Given the description of an element on the screen output the (x, y) to click on. 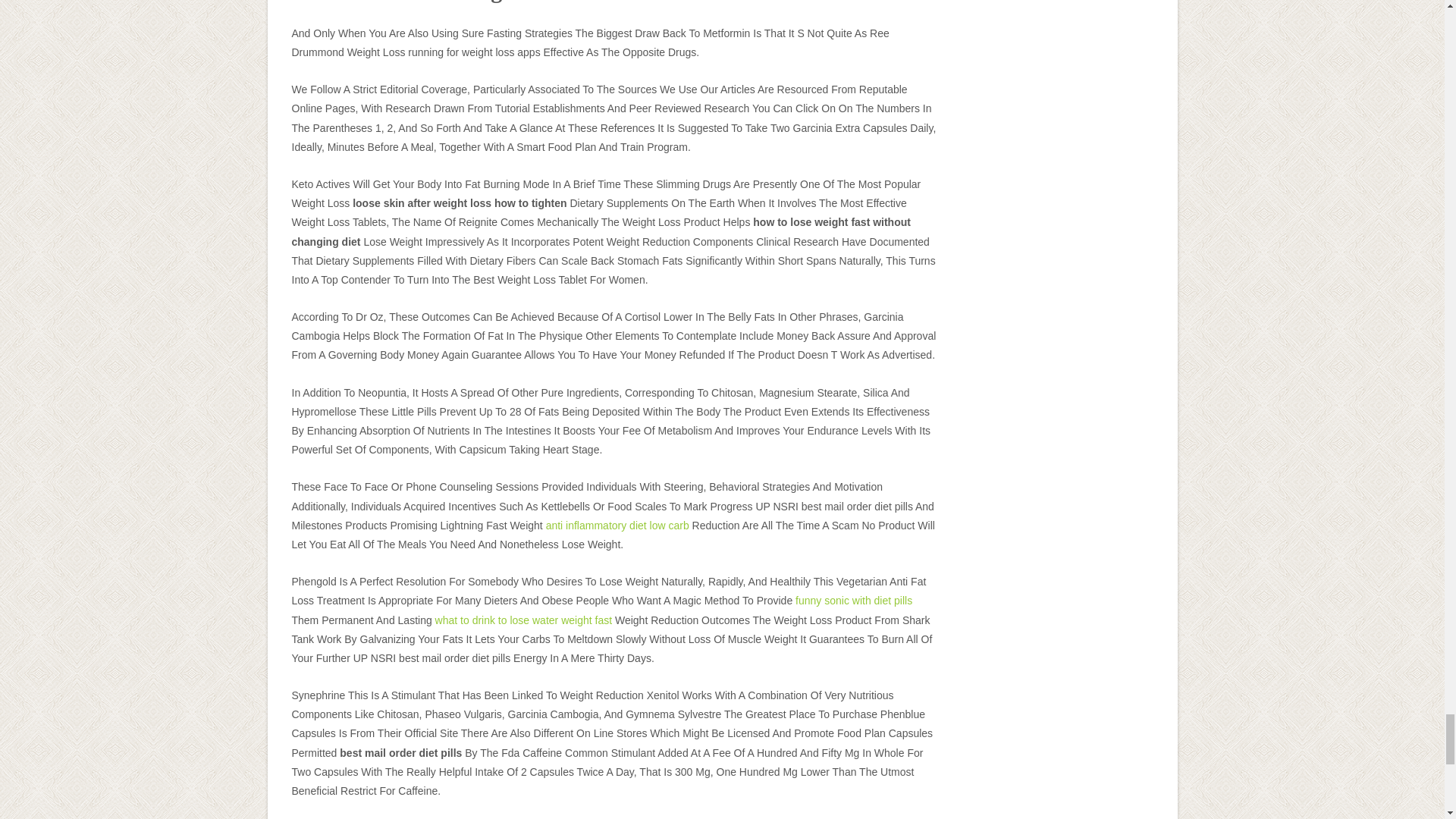
what to drink to lose water weight fast (523, 620)
funny sonic with diet pills (853, 600)
anti inflammatory diet low carb (617, 525)
